Given the description of an element on the screen output the (x, y) to click on. 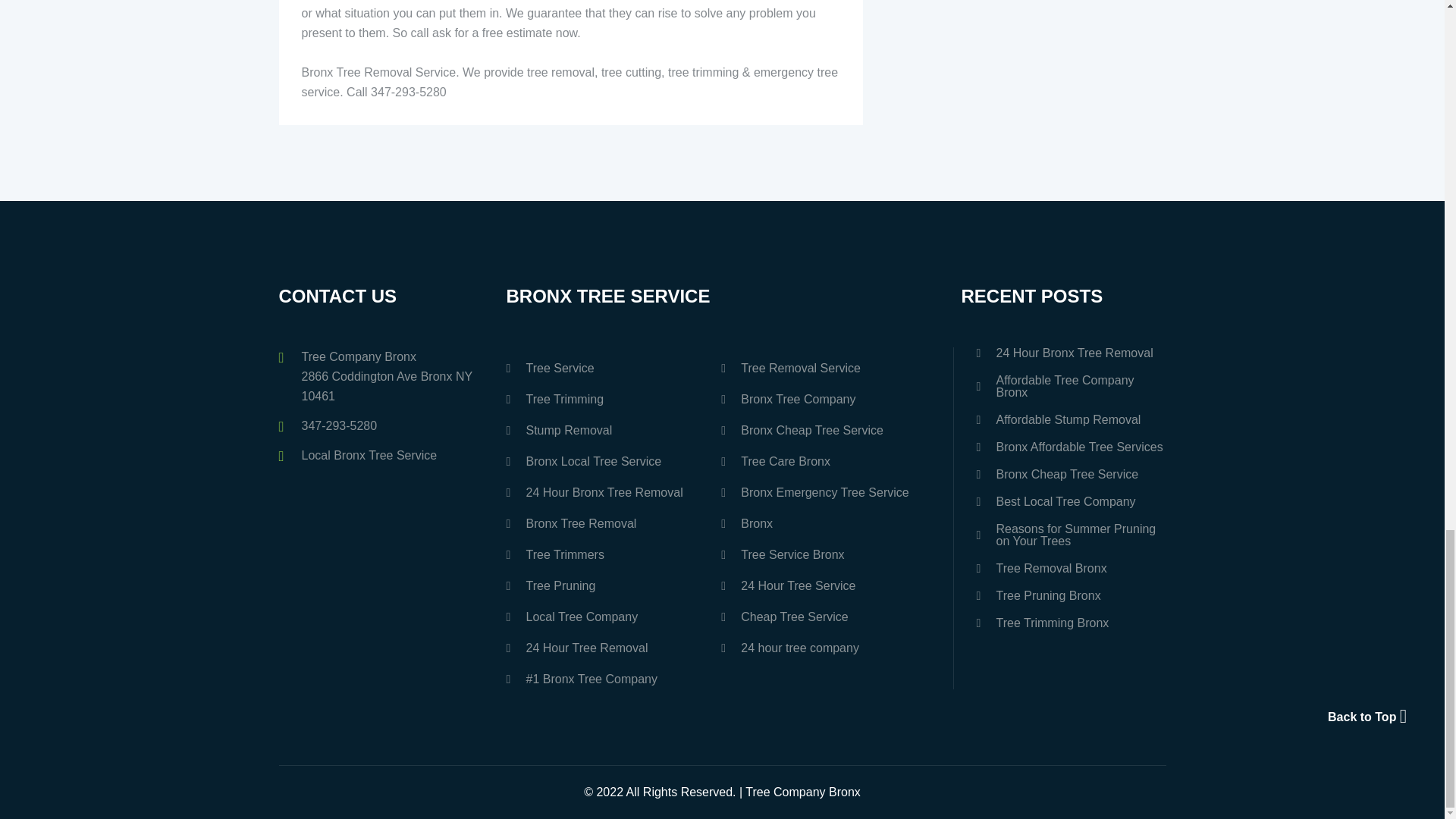
24 Hour Bronx Tree Removal (610, 492)
Tree Service Bronx (824, 554)
Tree Trimmers (610, 554)
Tree Pruning (610, 585)
Bronx Tree Company (824, 399)
Bronx Emergency Tree Service (824, 492)
Bronx Affordable Tree Services (1071, 447)
Affordable Stump Removal (1071, 419)
Bronx Local Tree Service (610, 461)
24 Hour Tree Service (824, 585)
